Given the description of an element on the screen output the (x, y) to click on. 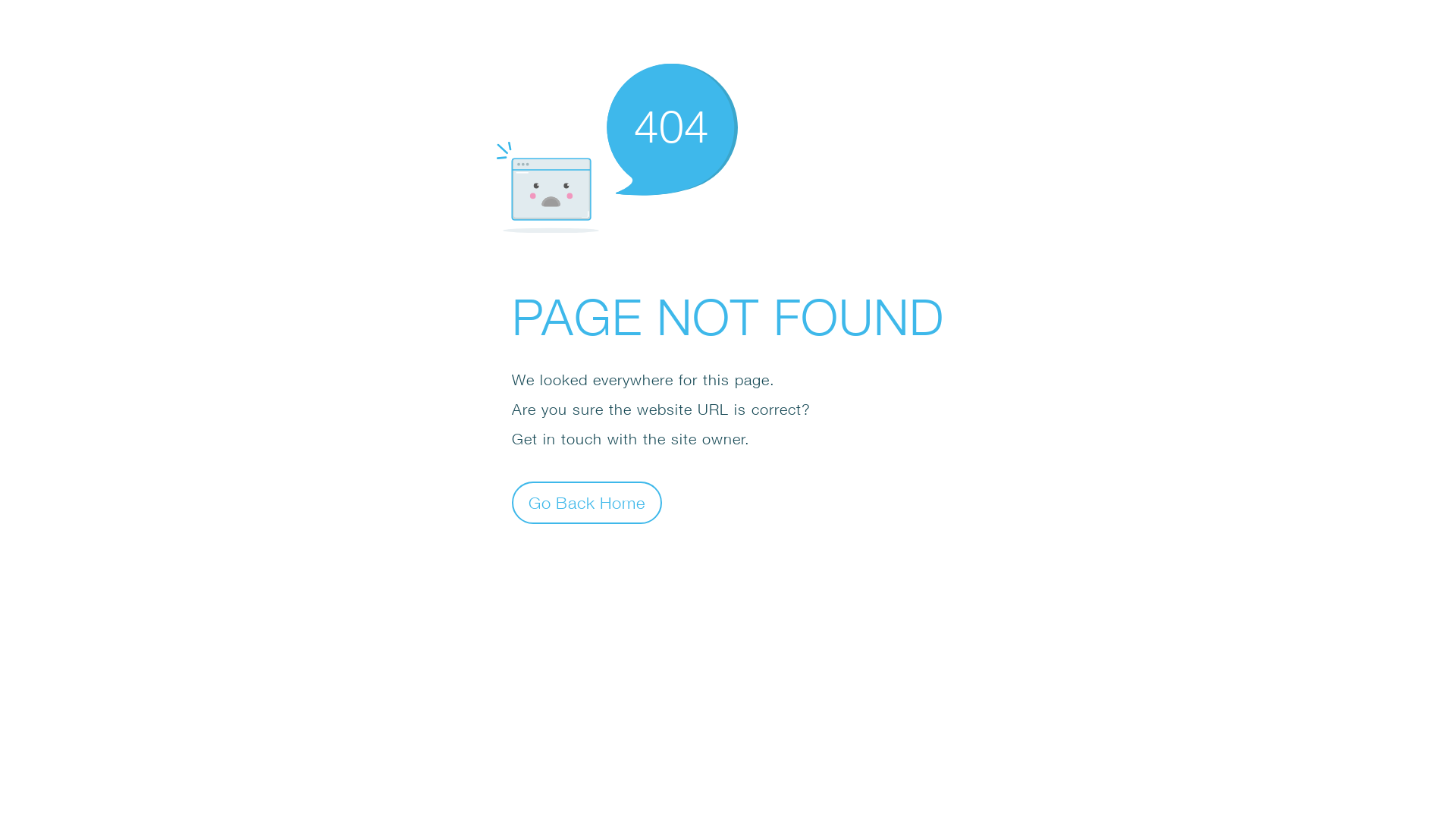
Go Back Home Element type: text (586, 502)
